Given the description of an element on the screen output the (x, y) to click on. 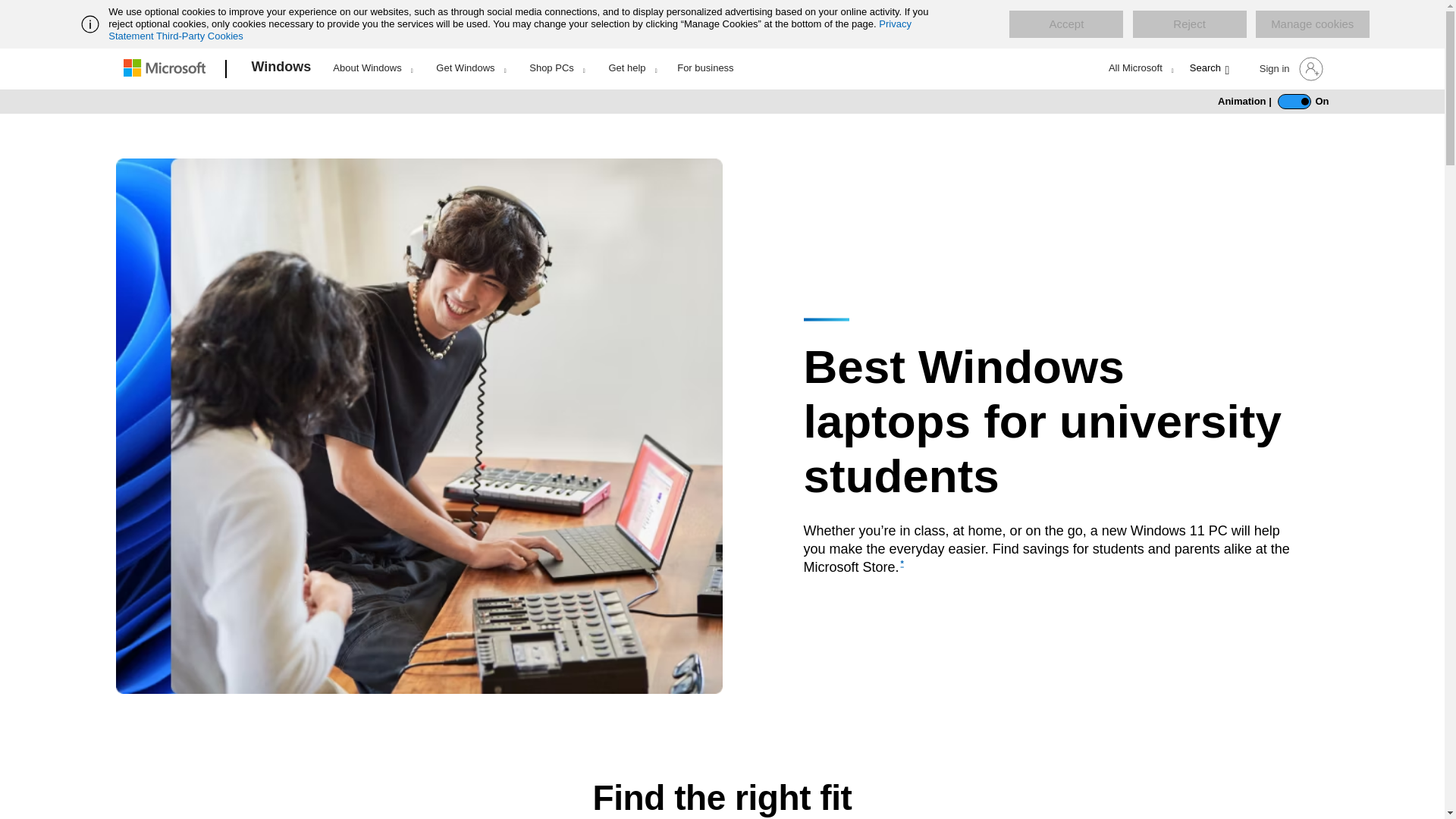
Get help (631, 67)
Third-Party Cookies (199, 35)
Reject (1189, 23)
Windows (281, 69)
Accept (1065, 23)
Microsoft (167, 69)
Shop PCs (556, 67)
About Windows (372, 67)
Manage cookies (1312, 23)
Privacy Statement (509, 29)
